Given the description of an element on the screen output the (x, y) to click on. 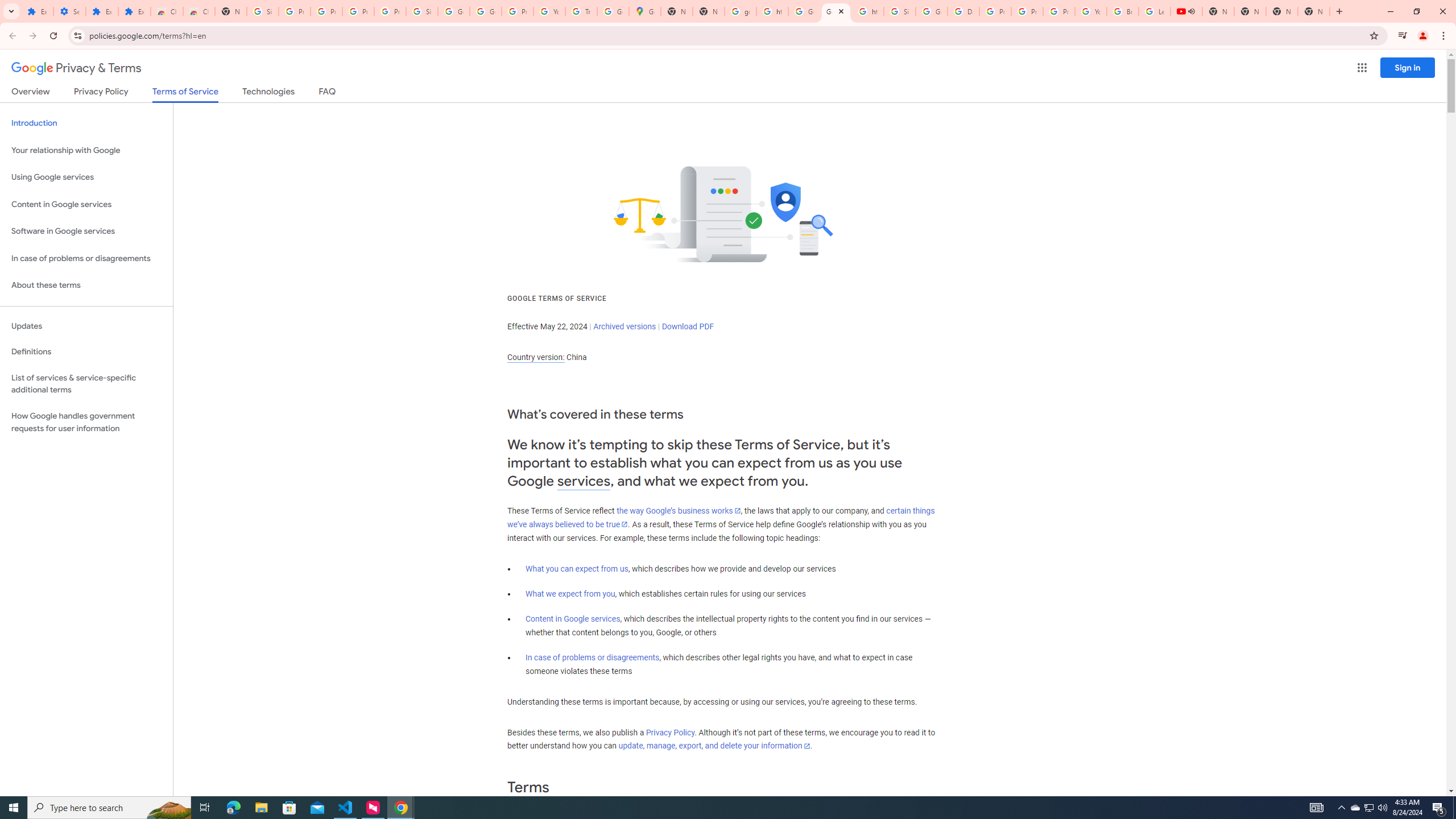
Content in Google services (572, 618)
https://scholar.google.com/ (868, 11)
services (583, 480)
